Given the description of an element on the screen output the (x, y) to click on. 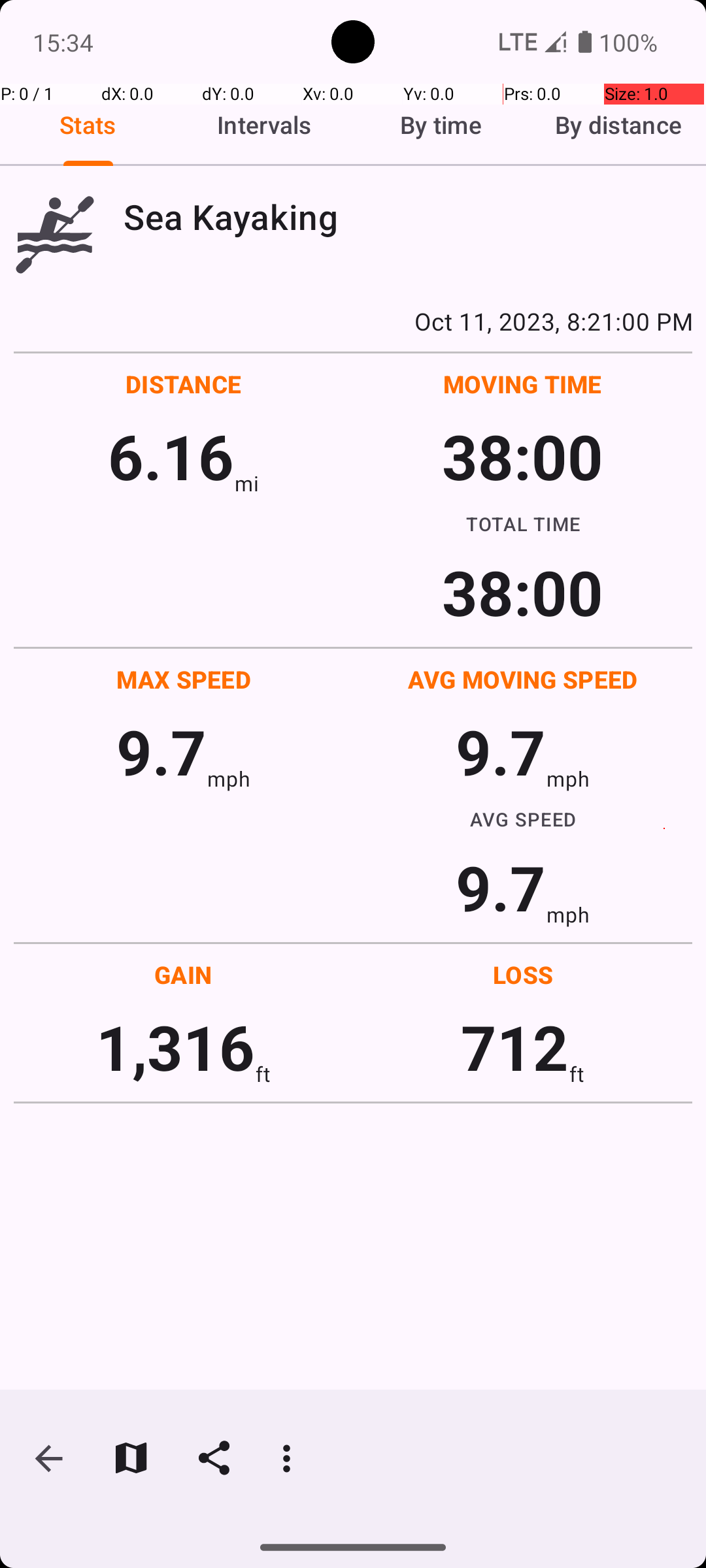
Sea Kayaking Element type: android.widget.TextView (407, 216)
Oct 11, 2023, 8:21:00 PM Element type: android.widget.TextView (352, 320)
6.16 Element type: android.widget.TextView (170, 455)
38:00 Element type: android.widget.TextView (522, 455)
9.7 Element type: android.widget.TextView (161, 750)
1,316 Element type: android.widget.TextView (175, 1045)
712 Element type: android.widget.TextView (514, 1045)
